Given the description of an element on the screen output the (x, y) to click on. 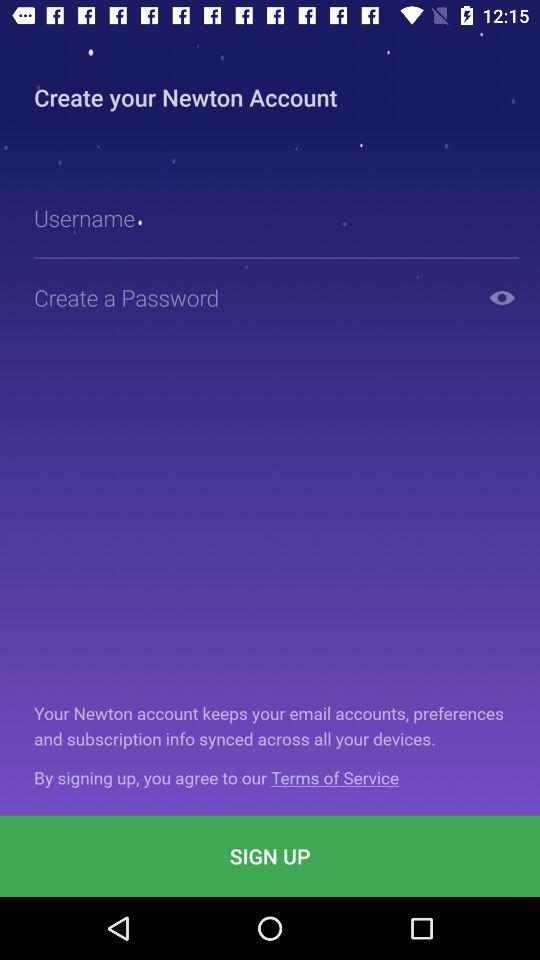
username (281, 217)
